Given the description of an element on the screen output the (x, y) to click on. 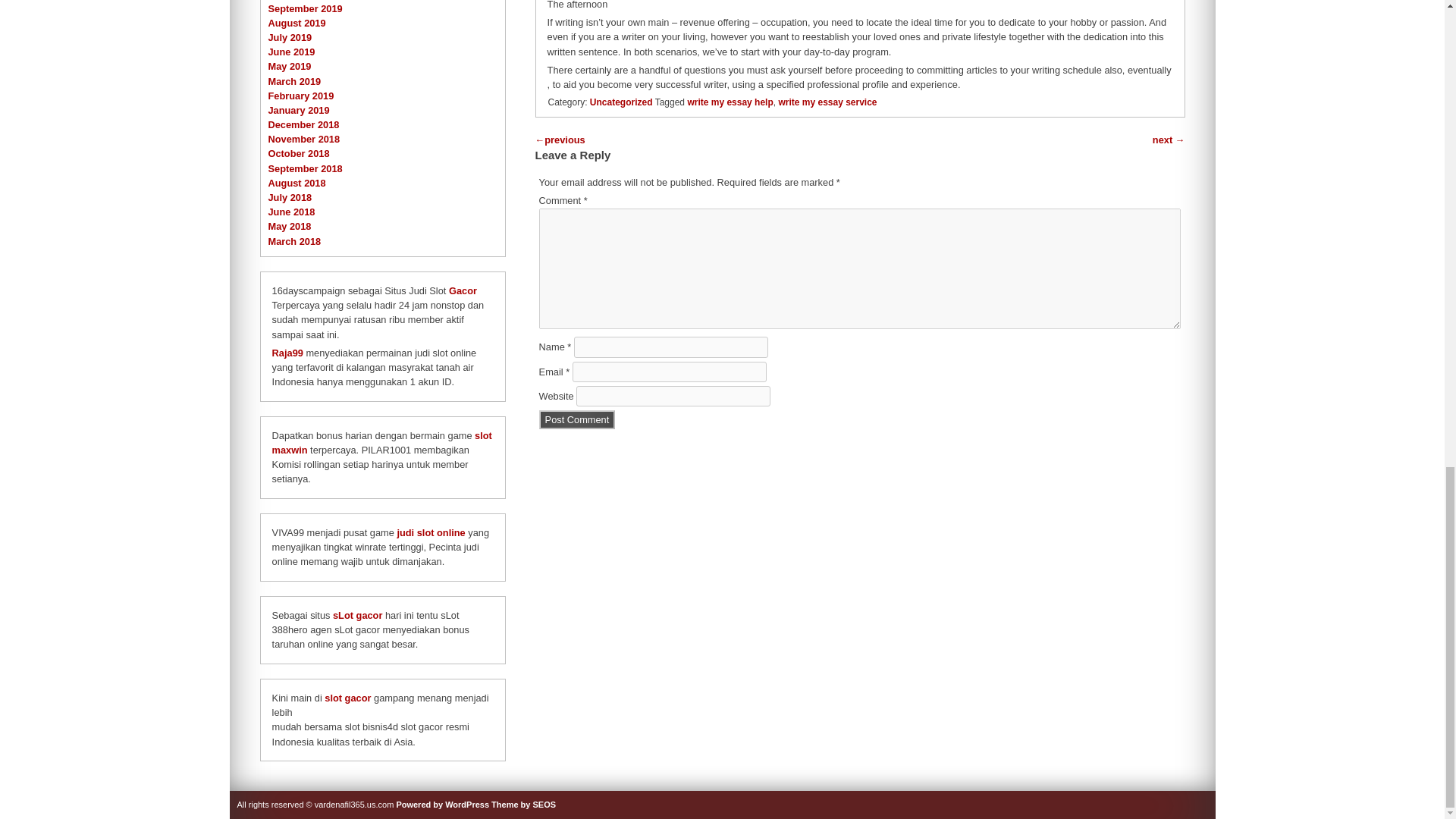
Post Comment (576, 419)
Post Comment (576, 419)
write my essay service (826, 102)
write my essay help (730, 102)
Seos free wordpress themes (524, 804)
Uncategorized (620, 102)
